Given the description of an element on the screen output the (x, y) to click on. 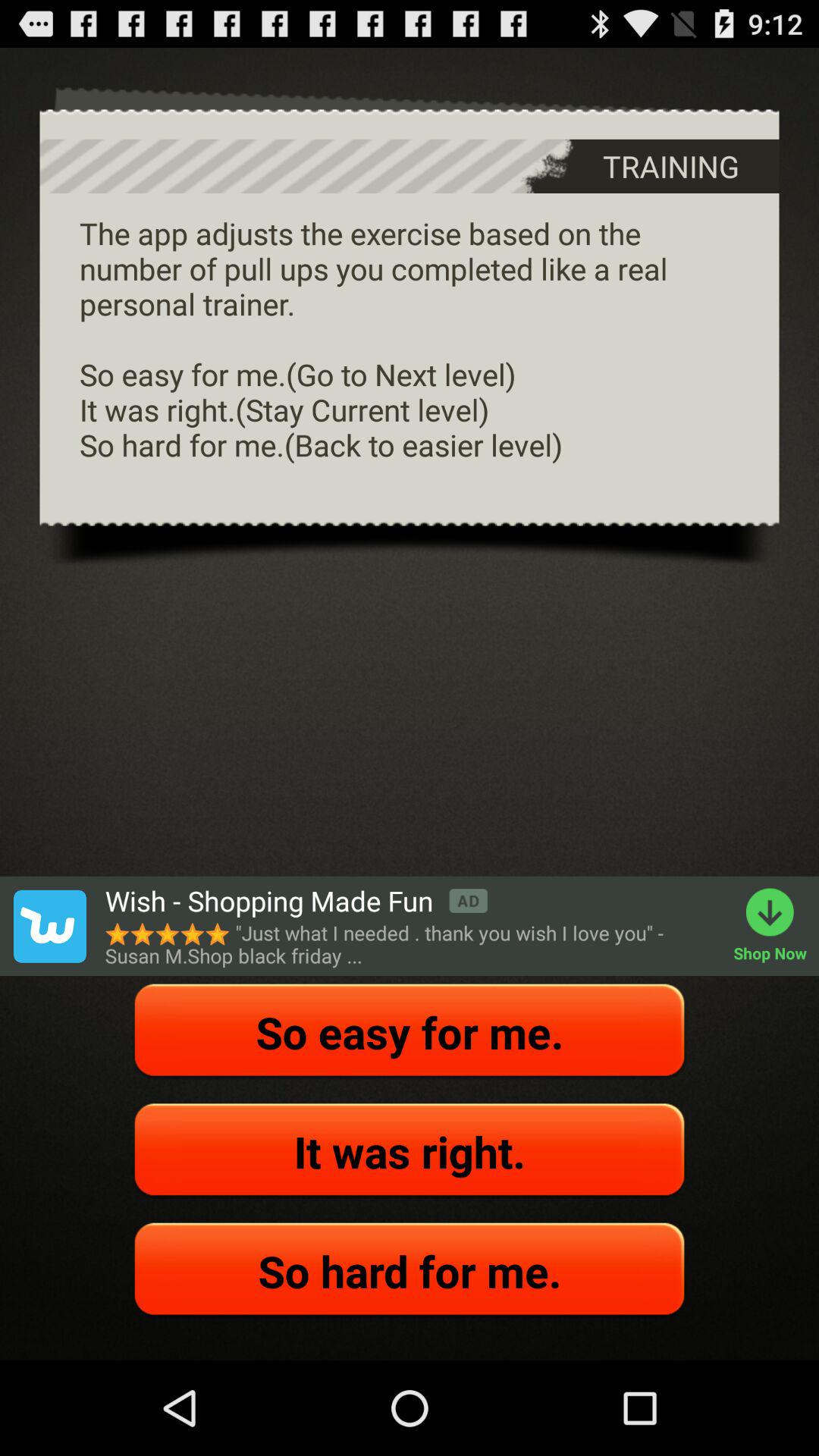
jump to just what i app (411, 944)
